Given the description of an element on the screen output the (x, y) to click on. 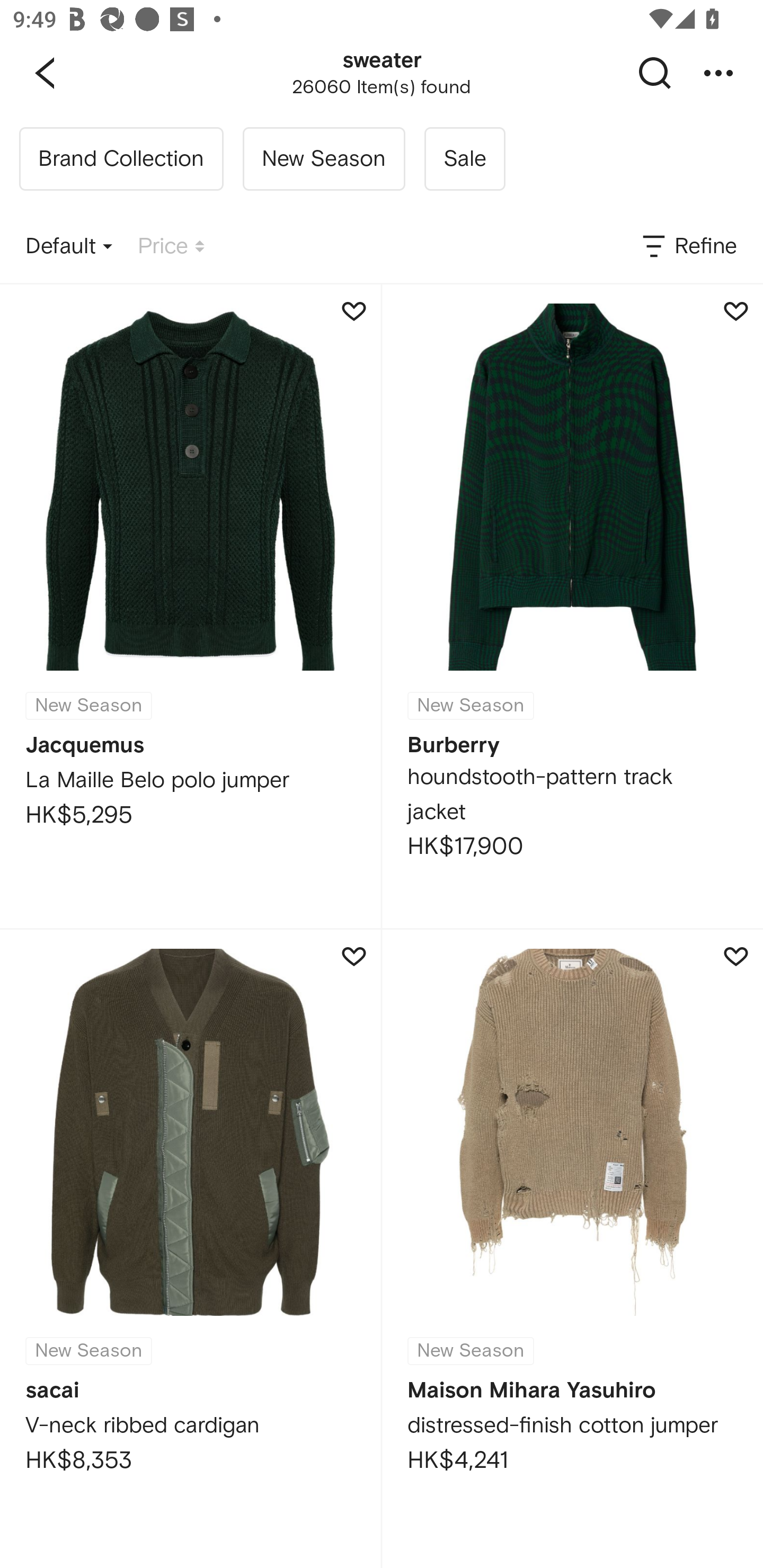
Brand Collection (121, 158)
New Season (323, 158)
Sale (464, 158)
Default (68, 246)
Price (171, 246)
Refine (688, 246)
New Season sacai V-neck ribbed cardigan HK$8,353 (190, 1248)
